Given the description of an element on the screen output the (x, y) to click on. 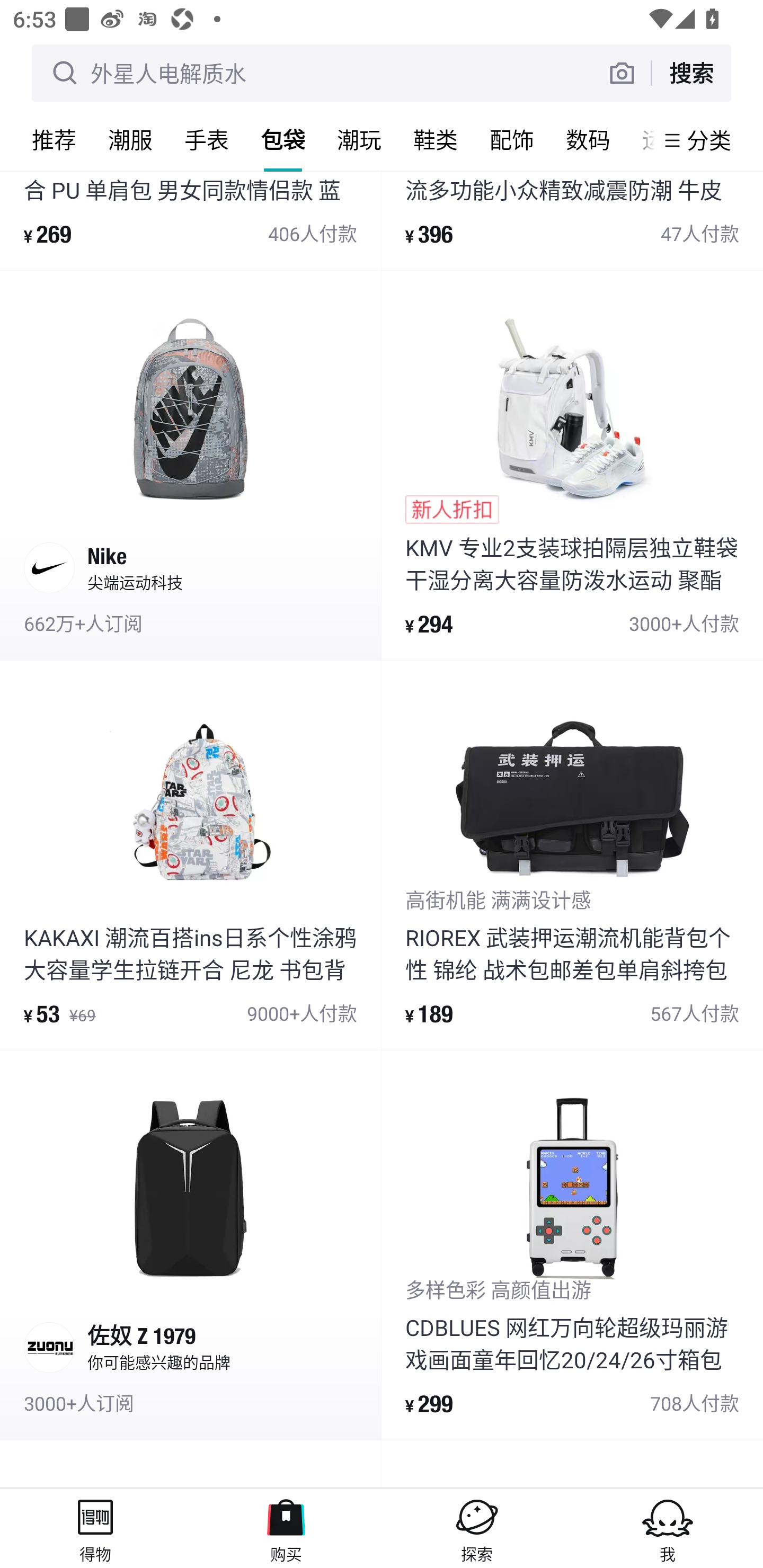
外星人电解质水 搜索 (381, 72)
搜索 (690, 72)
推荐 (54, 139)
潮服 (130, 139)
手表 (206, 139)
包袋 (282, 139)
潮玩 (359, 139)
鞋类 (435, 139)
配饰 (511, 139)
数码 (588, 139)
分类 (708, 139)
Nike 尖端运动科技 662万+人订阅 (190, 465)
佐奴 Z 1979 你可能感兴趣的品牌 3000+人订阅 (190, 1244)
得物 (95, 1528)
购买 (285, 1528)
探索 (476, 1528)
我 (667, 1528)
